Given the description of an element on the screen output the (x, y) to click on. 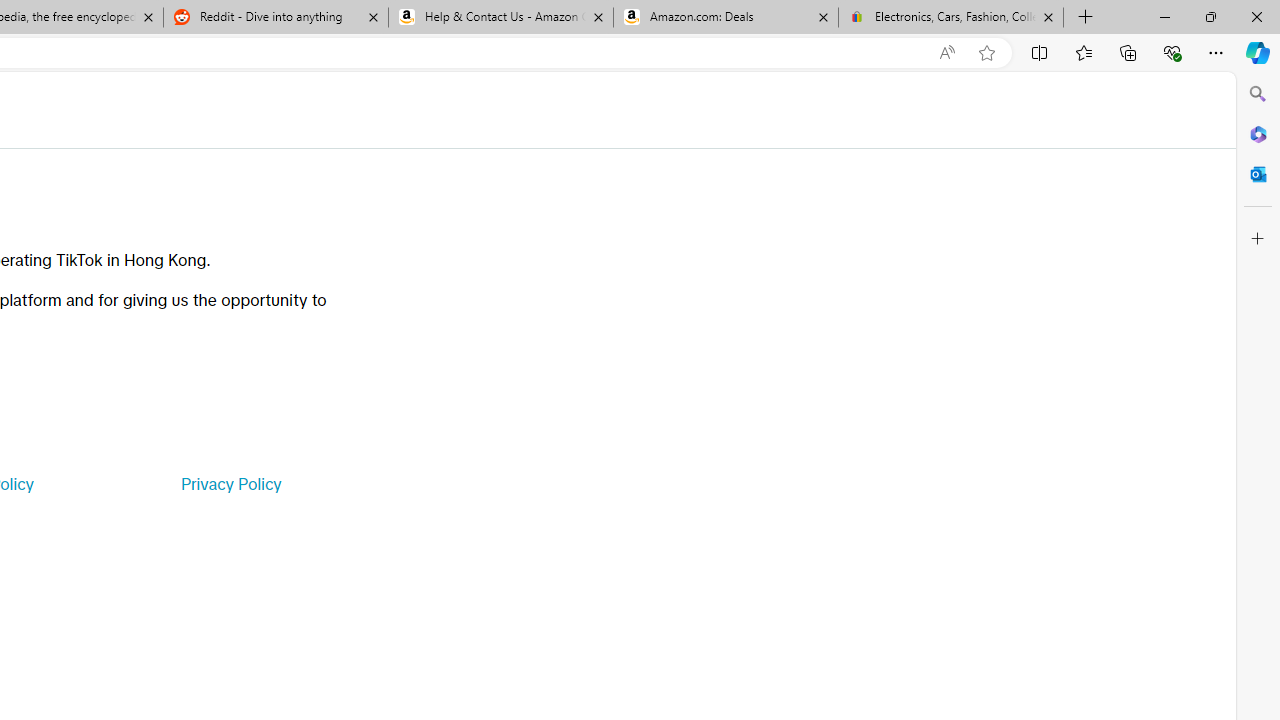
Privacy Policy (230, 484)
Amazon.com: Deals (726, 17)
Help & Contact Us - Amazon Customer Service (501, 17)
